Given the description of an element on the screen output the (x, y) to click on. 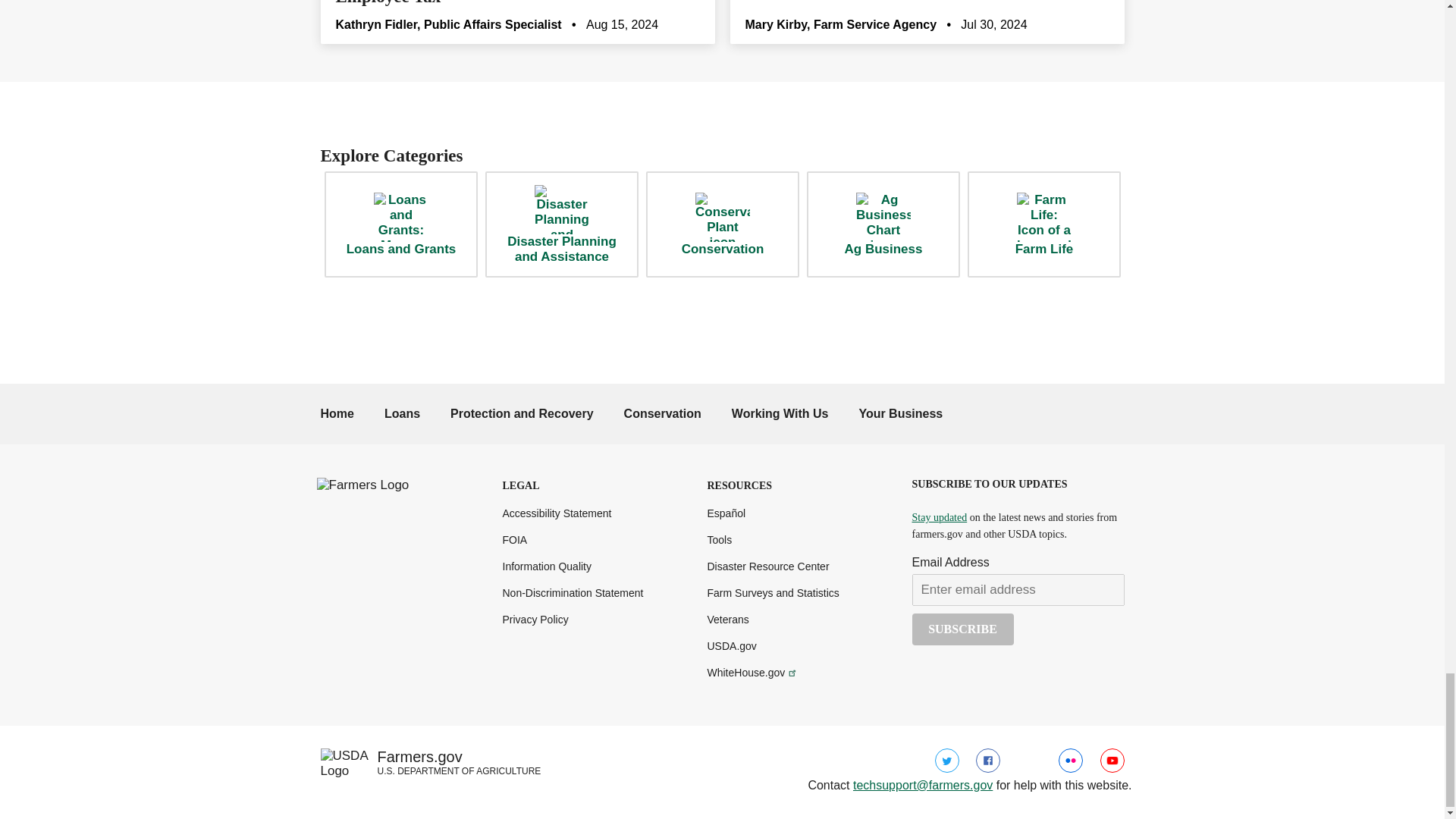
USDA loan options for farmers (402, 413)
Busque nuestras traducciones o haga una solicitud (725, 512)
Learn about the benefits of working with USDA (780, 413)
Subscribe (962, 629)
Get USDA resources specific to your operation (900, 413)
